Given the description of an element on the screen output the (x, y) to click on. 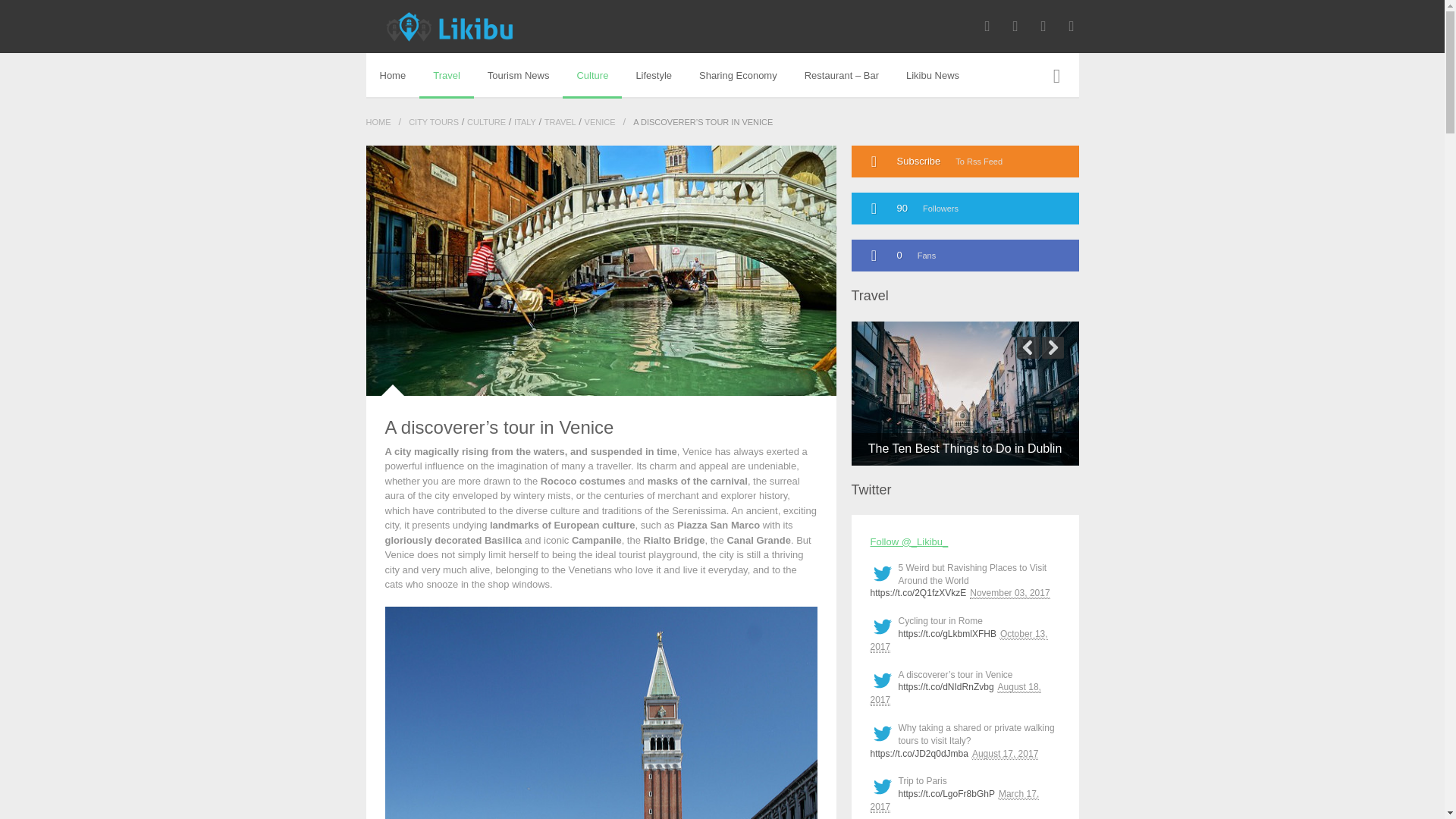
October 13, 2017 at 10:28 pm (959, 640)
Home (392, 75)
CITY TOURS (433, 121)
Likibu (449, 26)
November 03, 2017 at 11:59 pm (1009, 593)
August 17, 2017 at 04:03 pm (1005, 754)
Sharing Economy (737, 75)
ITALY (524, 121)
August 18, 2017 at 04:03 pm (955, 693)
Travel (446, 75)
